Given the description of an element on the screen output the (x, y) to click on. 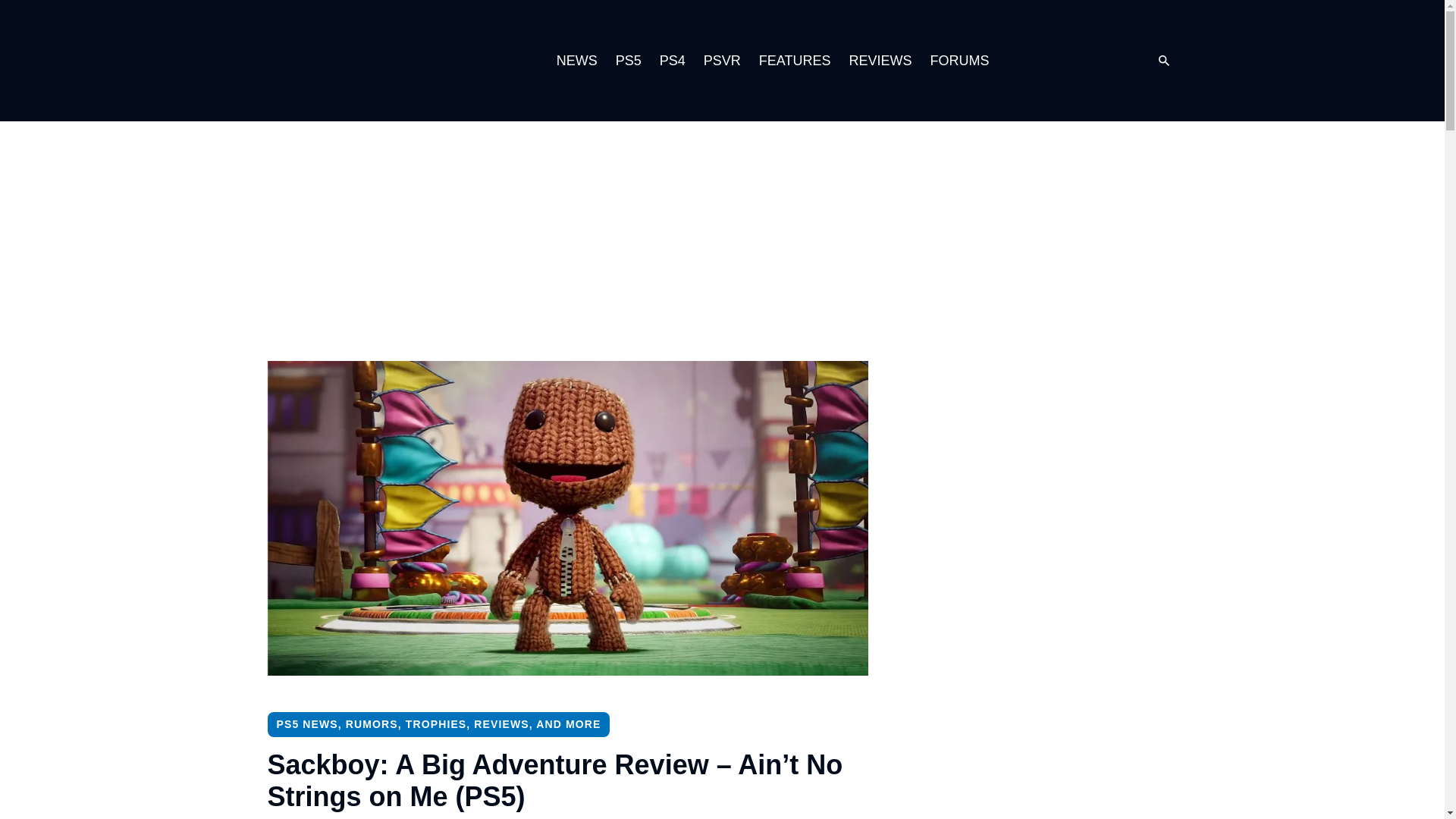
Instagram (1048, 60)
REVIEWS (880, 60)
PS5 NEWS, RUMORS, TROPHIES, REVIEWS, AND MORE (438, 724)
FEATURES (794, 60)
Facebook (1109, 60)
NEWS (577, 60)
3rd party ad content (721, 240)
PSVR (721, 60)
Twitter (1079, 60)
FORUMS (958, 60)
